Given the description of an element on the screen output the (x, y) to click on. 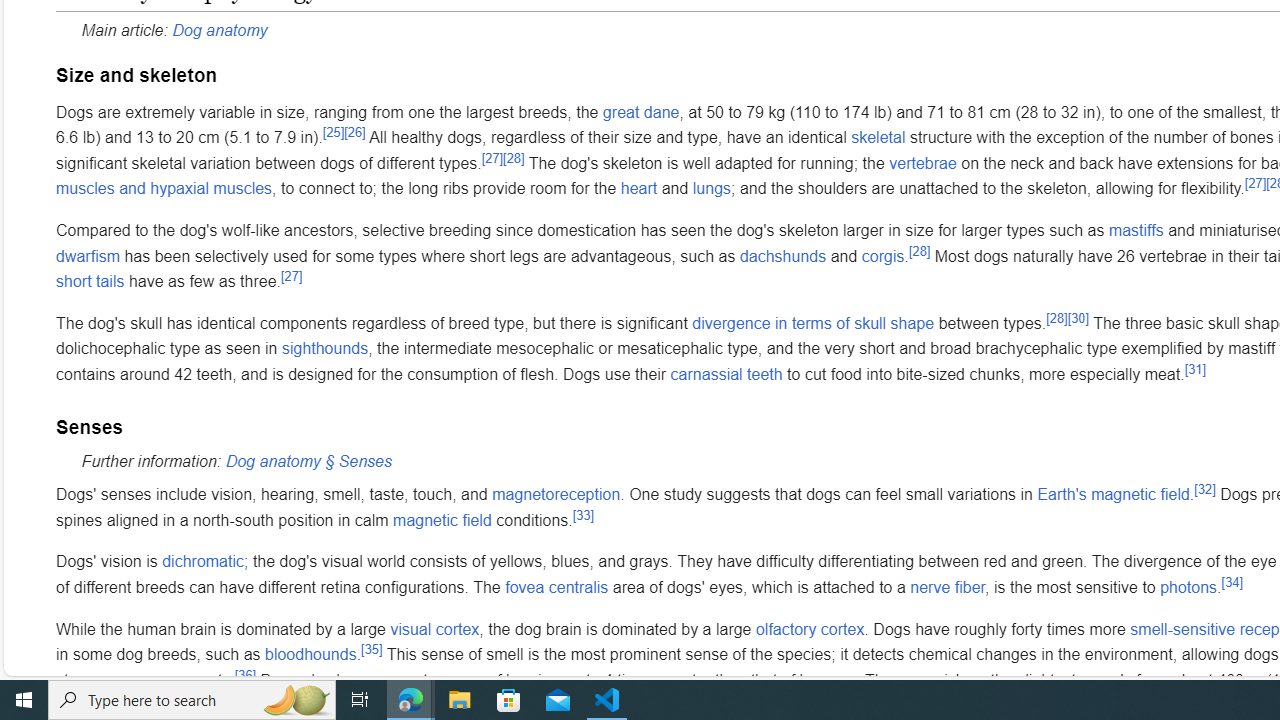
olfactory cortex (810, 628)
[32] (1205, 488)
dachshunds (782, 255)
heart (638, 189)
[30] (1078, 318)
visual cortex (435, 628)
[33] (583, 514)
magnetic field (441, 520)
dwarfism (88, 255)
photons (1188, 587)
bloodhounds (310, 654)
skeletal (878, 137)
[35] (371, 648)
corgis (882, 255)
